Given the description of an element on the screen output the (x, y) to click on. 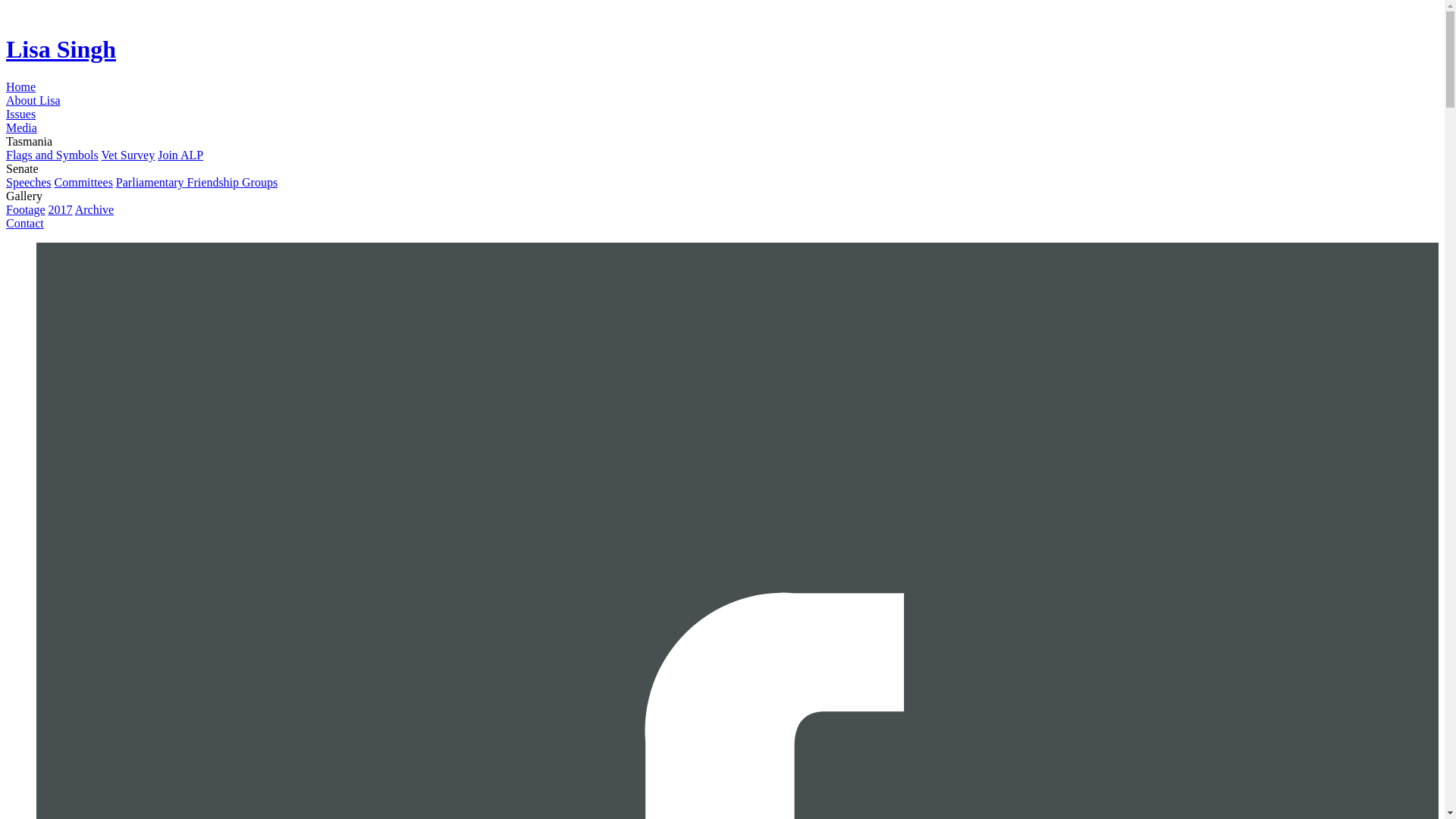
Flags and Symbols (52, 154)
Contact (24, 223)
2017 (60, 209)
Vet Survey (128, 154)
Speeches (27, 182)
Media (21, 127)
Parliamentary Friendship Groups (197, 182)
Archive (95, 209)
Footage (25, 209)
Join ALP (180, 154)
